Given the description of an element on the screen output the (x, y) to click on. 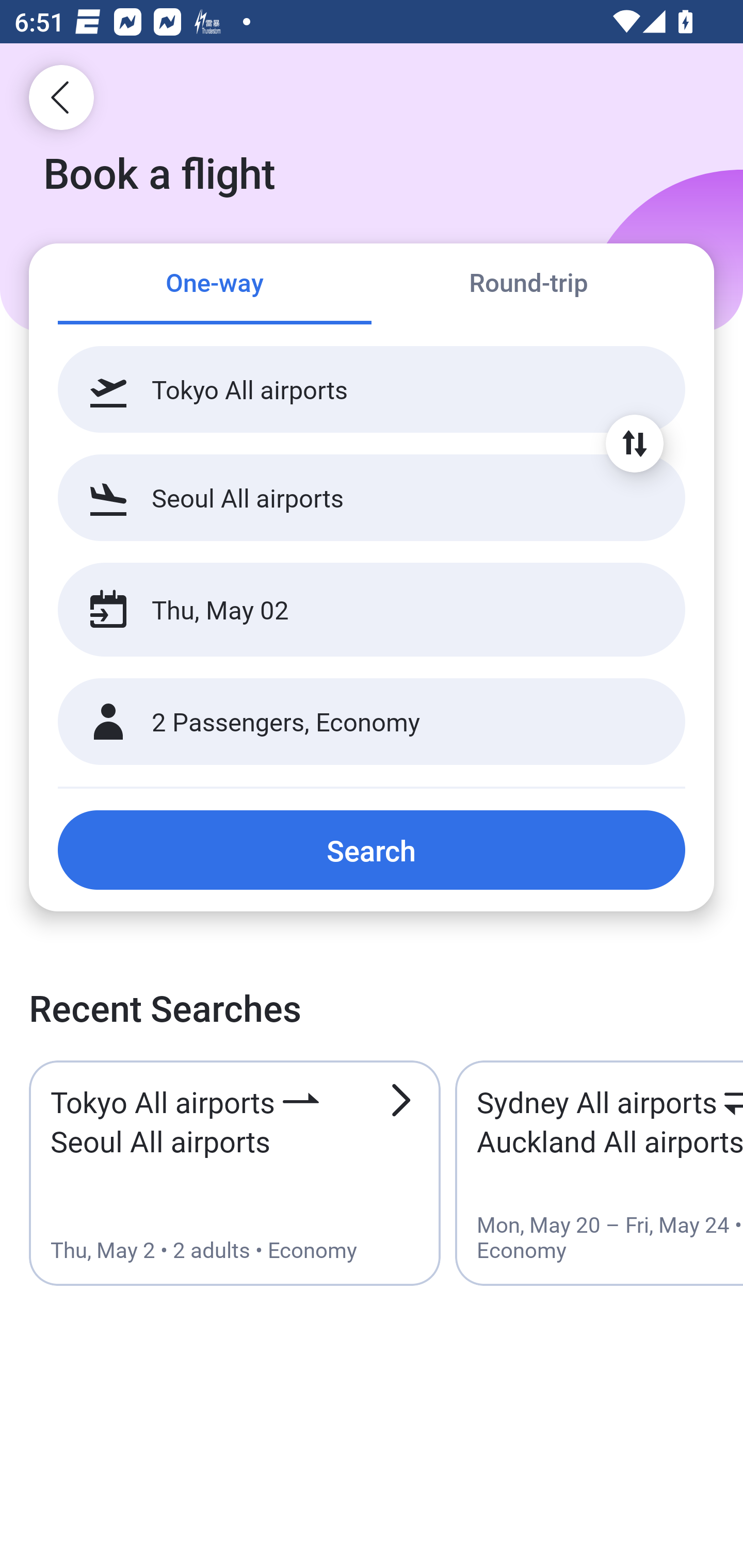
Round-trip (528, 284)
Tokyo All airports (371, 389)
Seoul All airports (371, 497)
Thu, May 02 (349, 609)
2 Passengers, Economy (371, 721)
Search (371, 849)
